Given the description of an element on the screen output the (x, y) to click on. 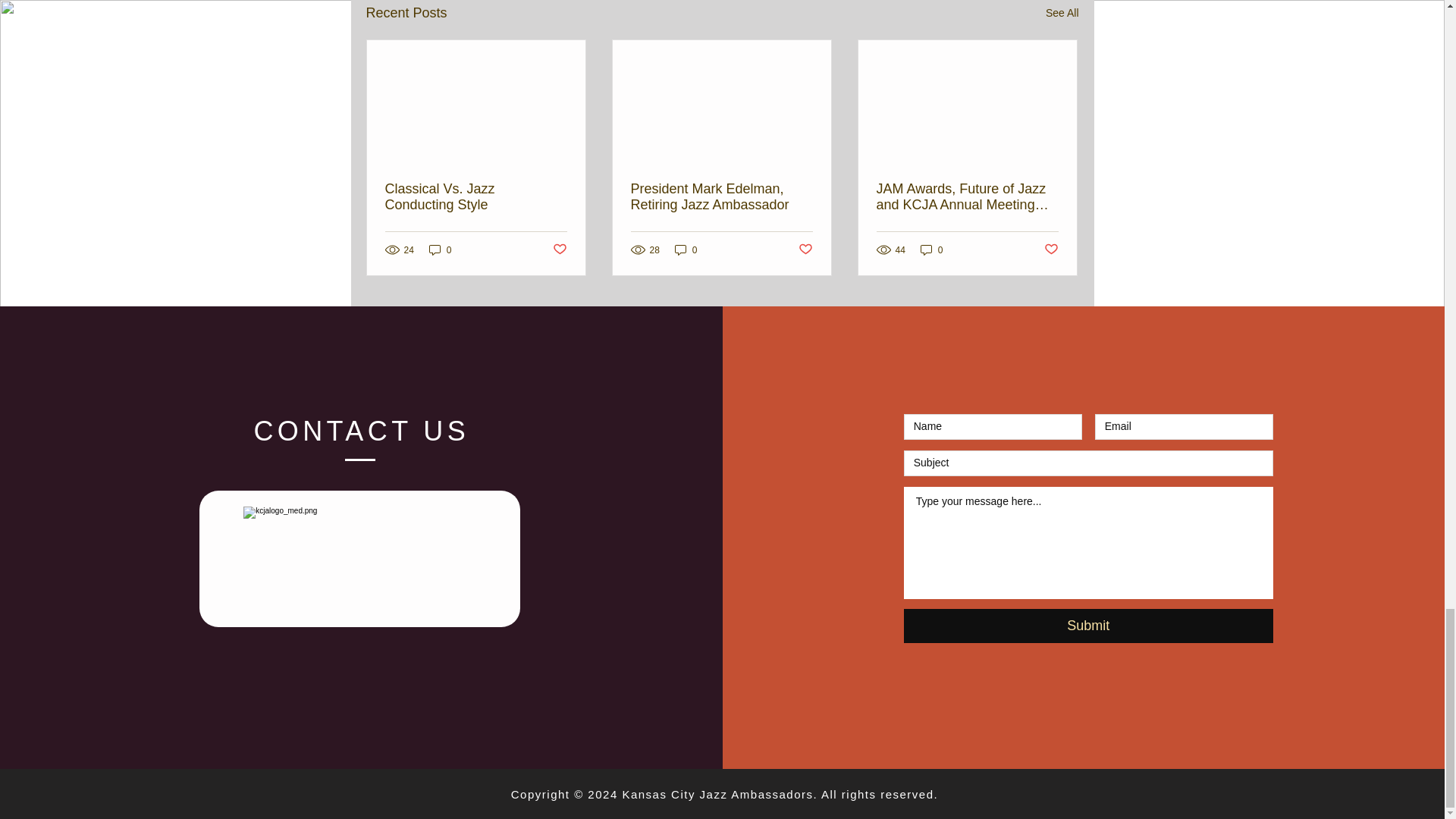
0 (440, 249)
Post not marked as liked (804, 249)
0 (931, 249)
0 (685, 249)
KCJA Logo.png (361, 558)
Post not marked as liked (558, 249)
Post not marked as liked (1050, 249)
Submit (1088, 625)
President Mark Edelman, Retiring Jazz Ambassador (721, 196)
Classical Vs. Jazz Conducting Style (476, 196)
